Given the description of an element on the screen output the (x, y) to click on. 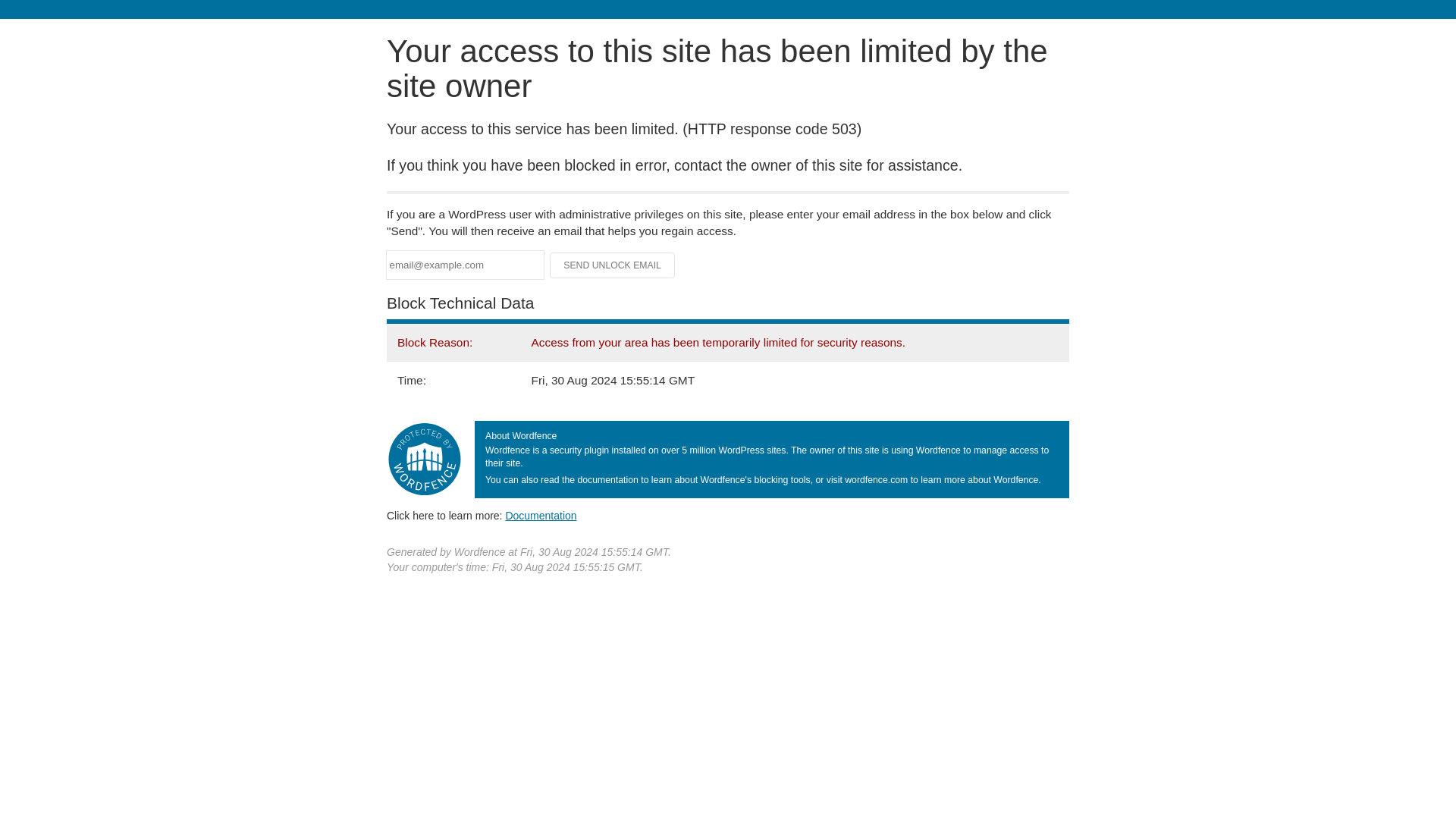
Send Unlock Email (612, 265)
Send Unlock Email (612, 265)
Documentation (540, 515)
